Given the description of an element on the screen output the (x, y) to click on. 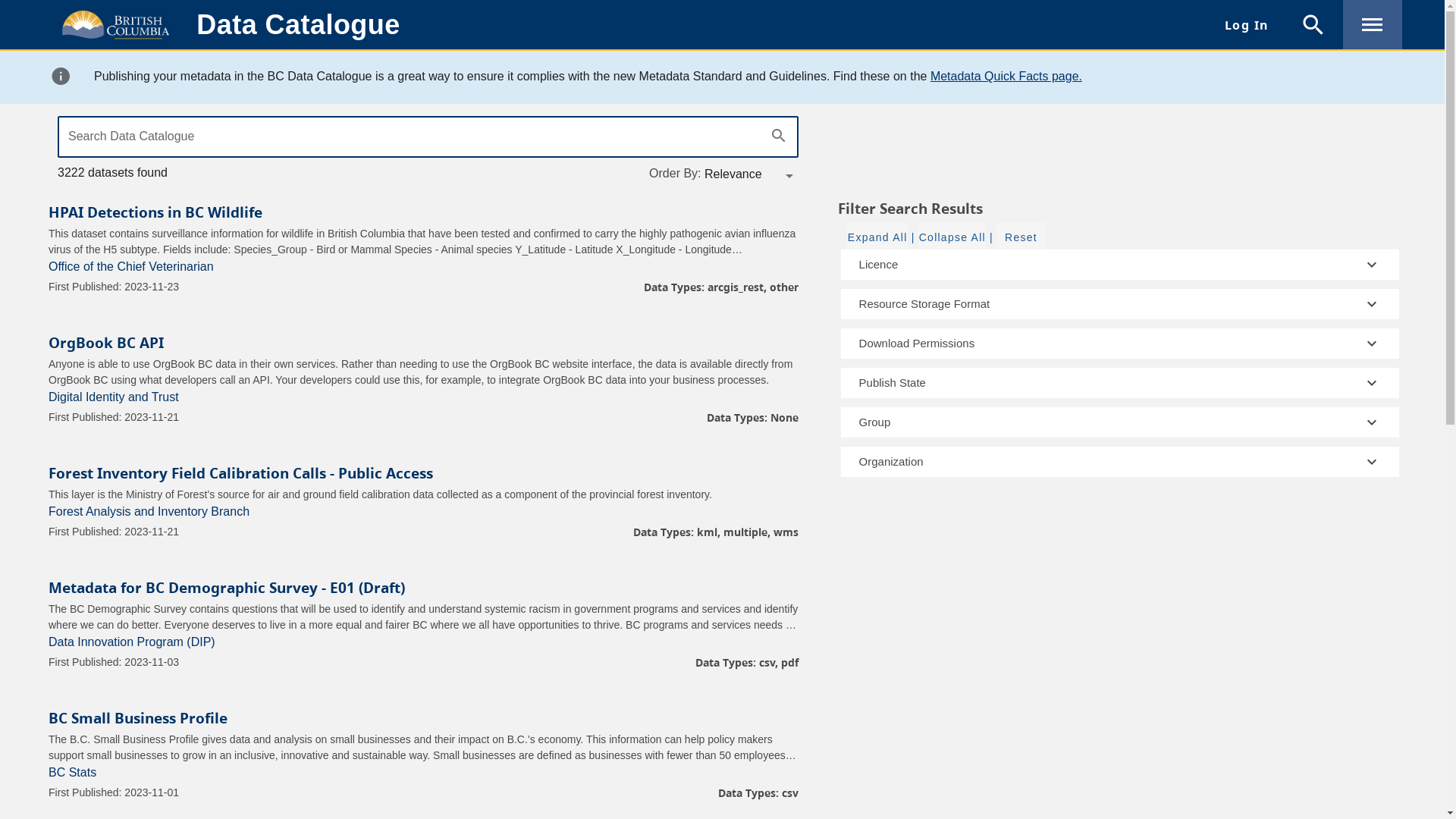
Forest Analysis and Inventory Branch Element type: text (148, 511)
Metadata for BC Demographic Survey - E01 (Draft) Element type: text (226, 586)
| Element type: text (990, 237)
Licence Element type: text (1119, 264)
Reset Element type: text (1020, 237)
Digital Identity and Trust Element type: text (113, 396)
Log In Element type: text (1245, 24)
Resource Storage Format Element type: text (1119, 303)
search Element type: text (778, 135)
Organization Element type: text (1119, 461)
Metadata Quick Facts page. Element type: text (1006, 75)
Forest Inventory Field Calibration Calls - Public Access Element type: text (240, 472)
Data Catalogue Element type: text (297, 24)
BC Small Business Profile Element type: text (137, 717)
BC Stats Element type: text (72, 771)
search Element type: text (1313, 24)
Download Permissions Element type: text (1119, 343)
Data Innovation Program (DIP) Element type: text (131, 641)
| Element type: text (911, 237)
Group Element type: text (1119, 422)
OrgBook BC API Element type: text (105, 341)
Publish State Element type: text (1119, 382)
Office of the Chief Veterinarian Element type: text (130, 266)
Expand All Element type: text (877, 237)
HPAI Detections in BC Wildlife Element type: text (155, 211)
Collapse All Element type: text (951, 237)
